Given the description of an element on the screen output the (x, y) to click on. 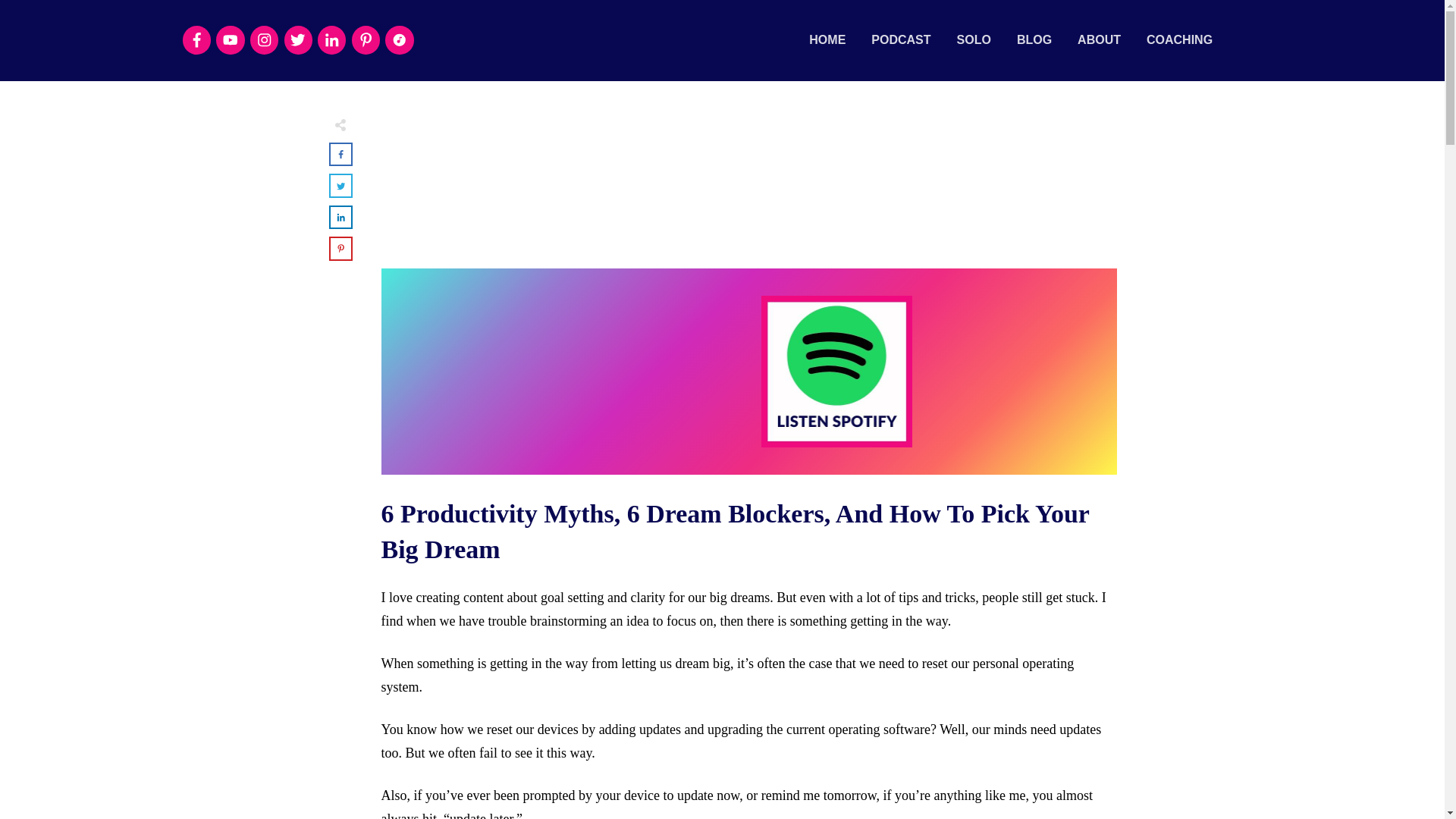
ABOUT (1099, 39)
SOLO (973, 39)
HOME (827, 39)
BLOG (1033, 39)
COACHING (1179, 39)
PODCAST (900, 39)
